Given the description of an element on the screen output the (x, y) to click on. 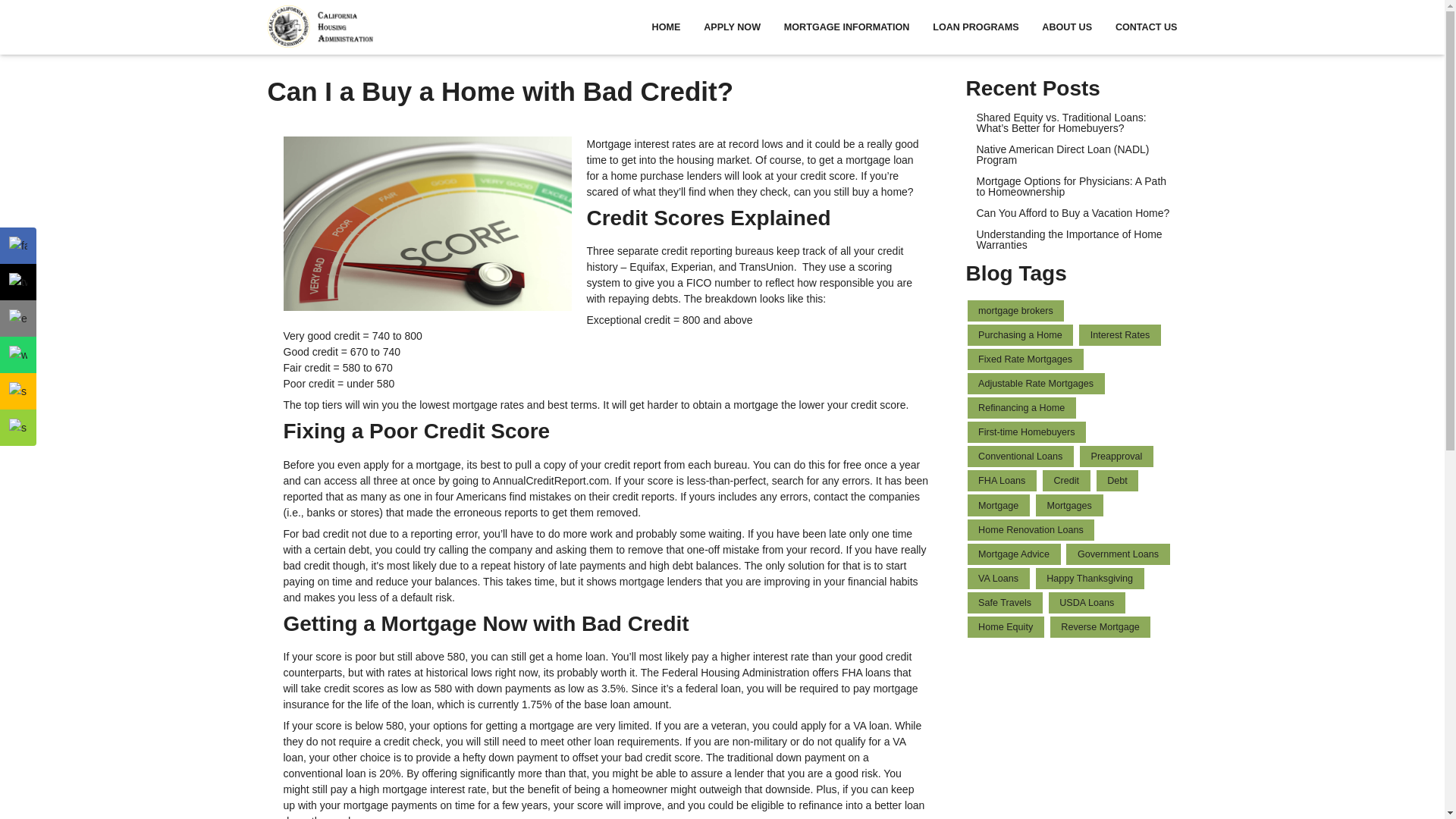
Purchasing a Home (1021, 334)
HOME (666, 27)
APPLY NOW (733, 27)
mortgage brokers (1016, 310)
Can You Afford to Buy a Vacation Home? (1071, 213)
MORTGAGE INFORMATION (845, 27)
Interest Rates (1119, 334)
Adjustable Rate Mortgages (1036, 383)
ABOUT US (1066, 27)
First-time Homebuyers (1027, 432)
Understanding the Importance of Home Warranties (1071, 239)
Fixed Rate Mortgages (1025, 359)
CONTACT US (1139, 27)
Conventional Loans (1021, 455)
Refinancing a Home (1021, 407)
